Given the description of an element on the screen output the (x, y) to click on. 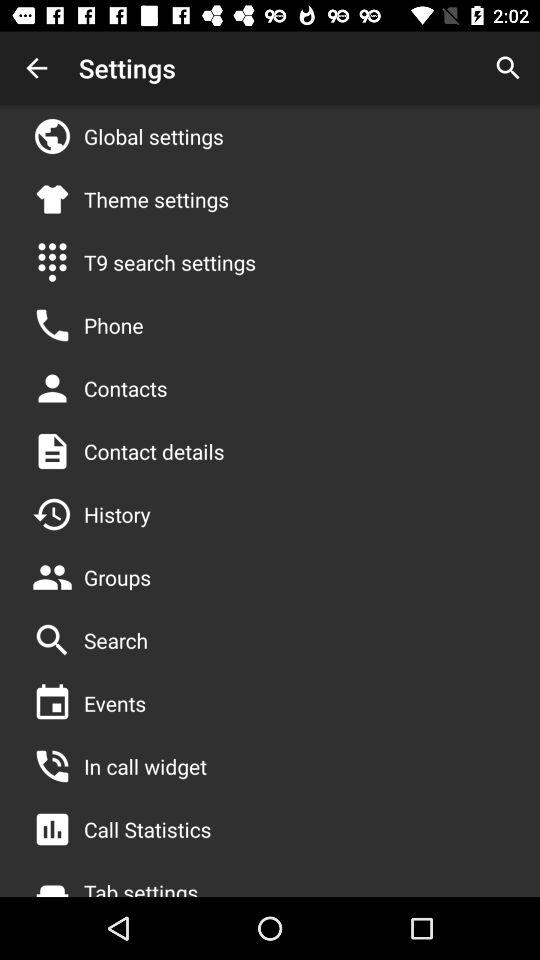
swipe to theme settings app (156, 199)
